Given the description of an element on the screen output the (x, y) to click on. 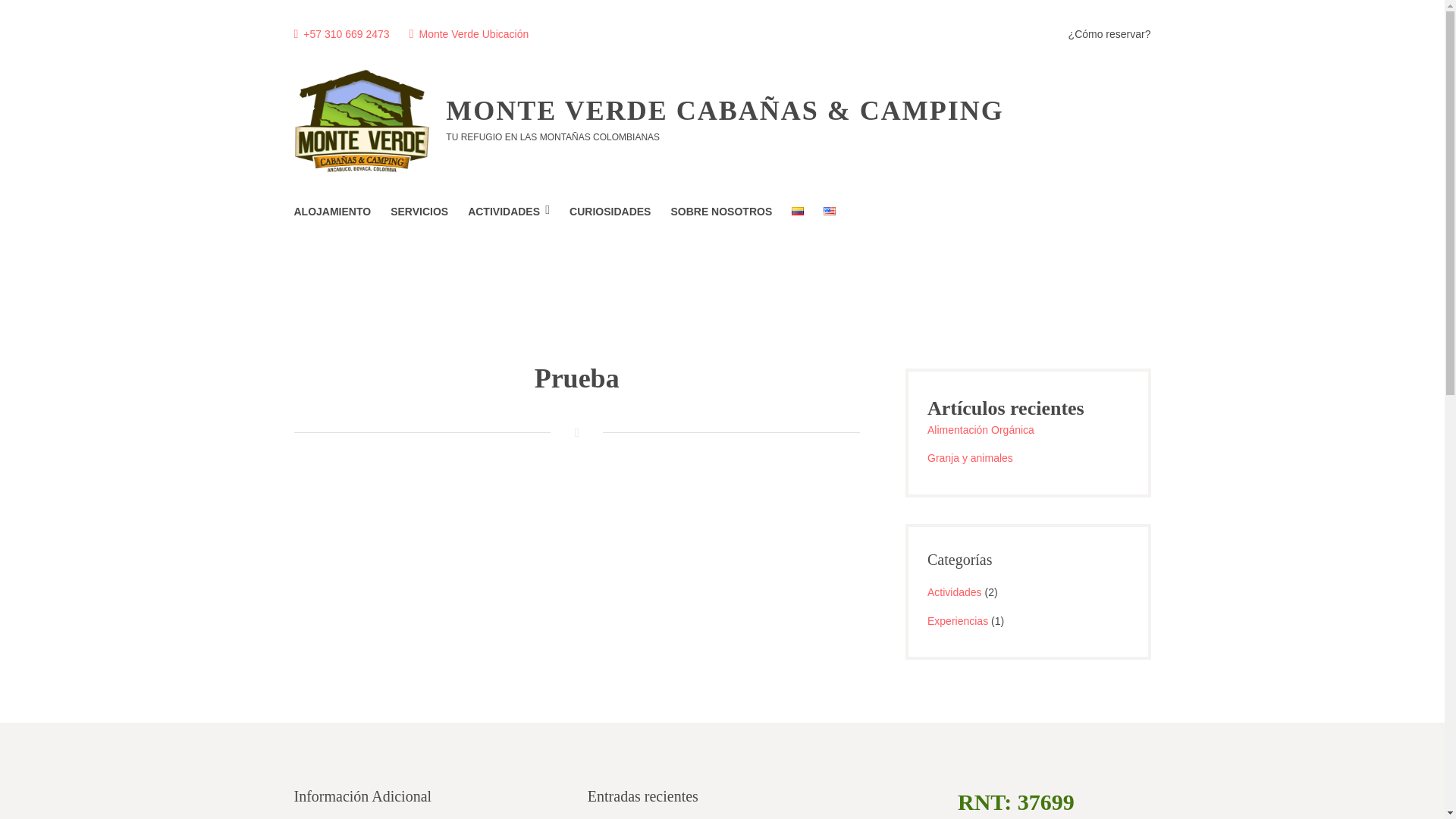
ALOJAMIENTO (332, 211)
ACTIVIDADES (508, 211)
CURIOSIDADES (609, 211)
SOBRE NOSOTROS (720, 211)
Actividades (954, 592)
SERVICIOS (419, 211)
Granja y animales (970, 458)
Experiencias (957, 621)
